Given the description of an element on the screen output the (x, y) to click on. 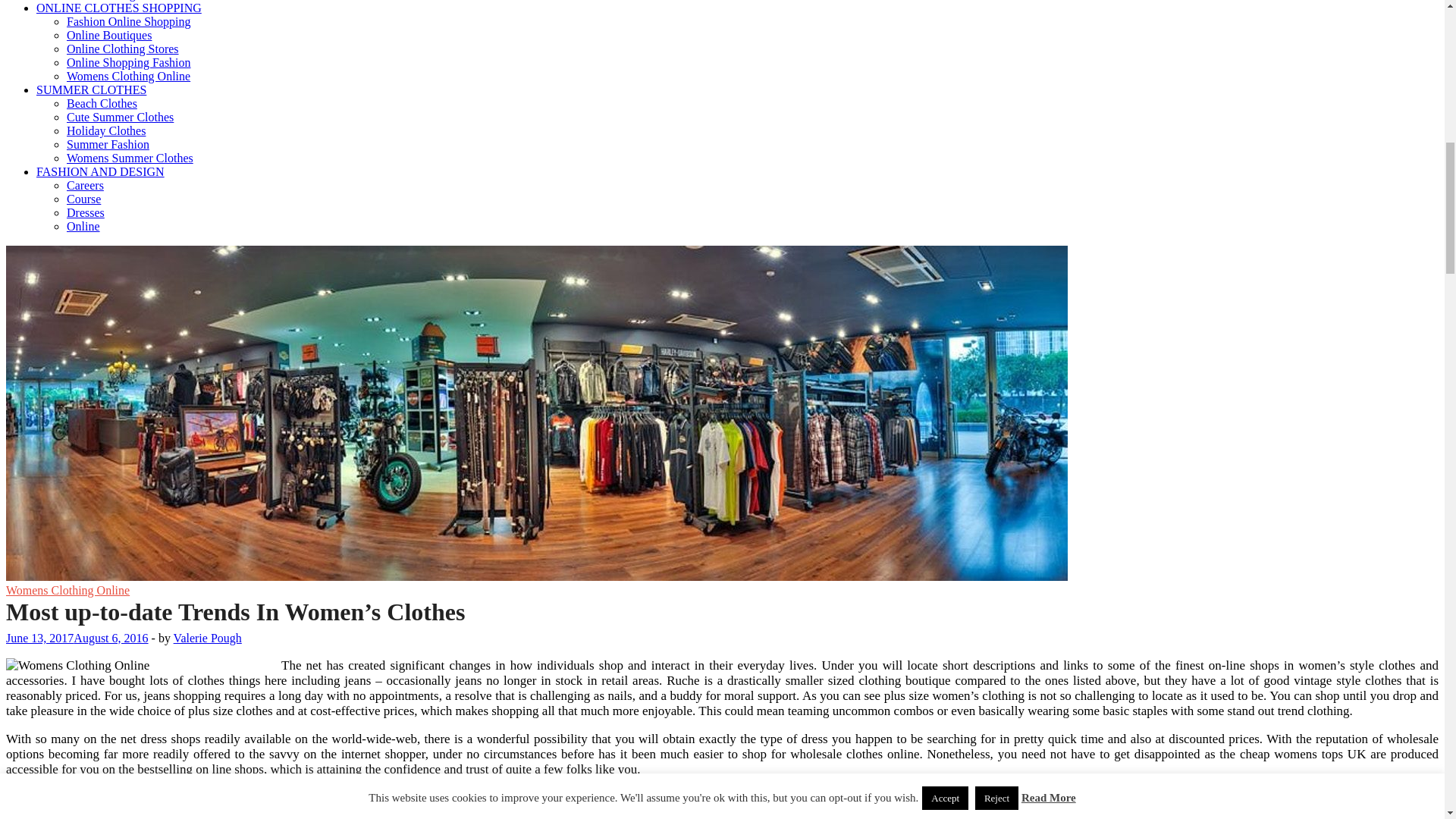
GazetaFlash (536, 576)
